Given the description of an element on the screen output the (x, y) to click on. 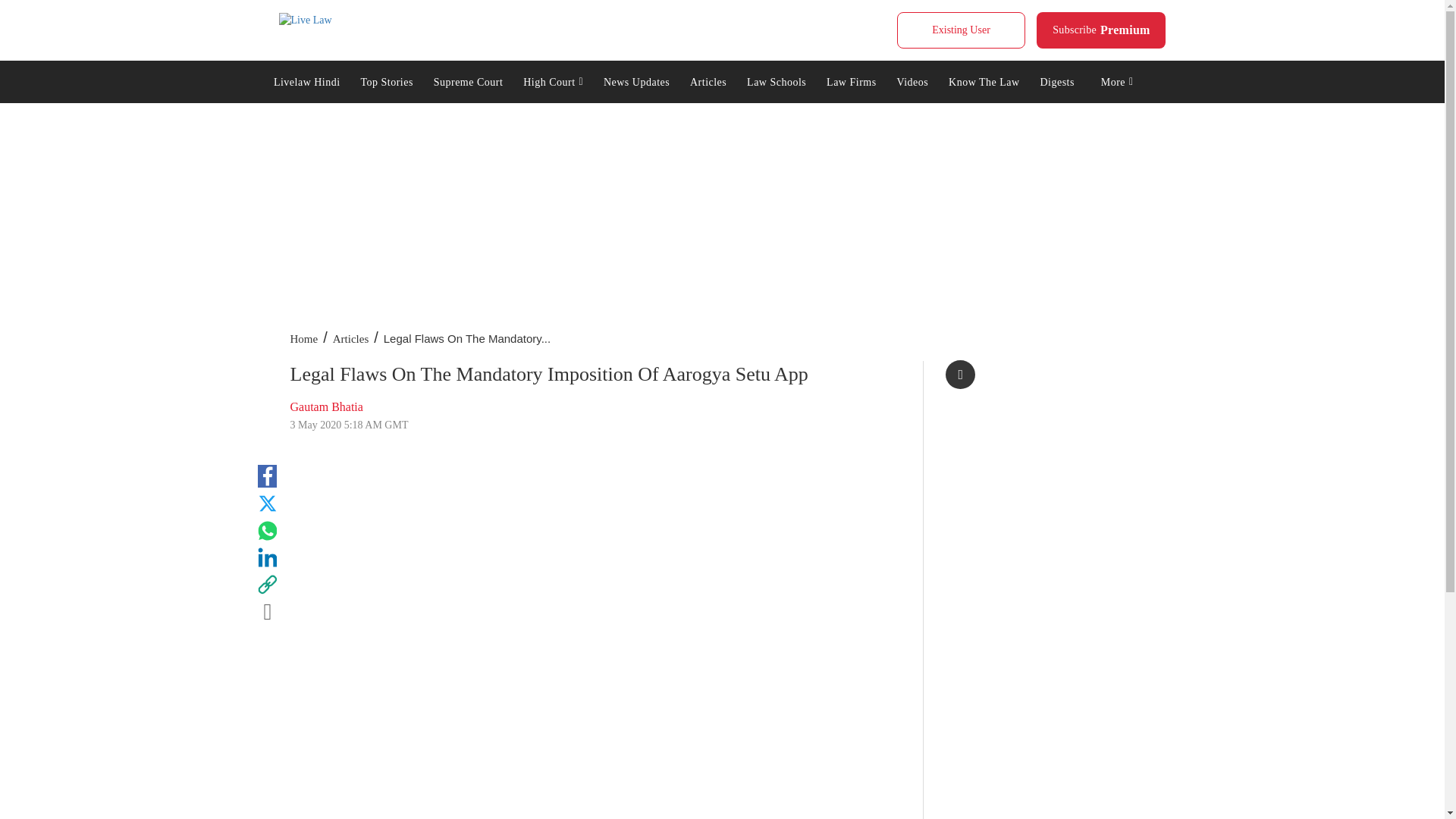
Live Law (305, 20)
Top Stories (386, 80)
Existing User (960, 30)
High Court (553, 80)
Supreme Court (467, 80)
Livelaw Hindi (1101, 30)
